Given the description of an element on the screen output the (x, y) to click on. 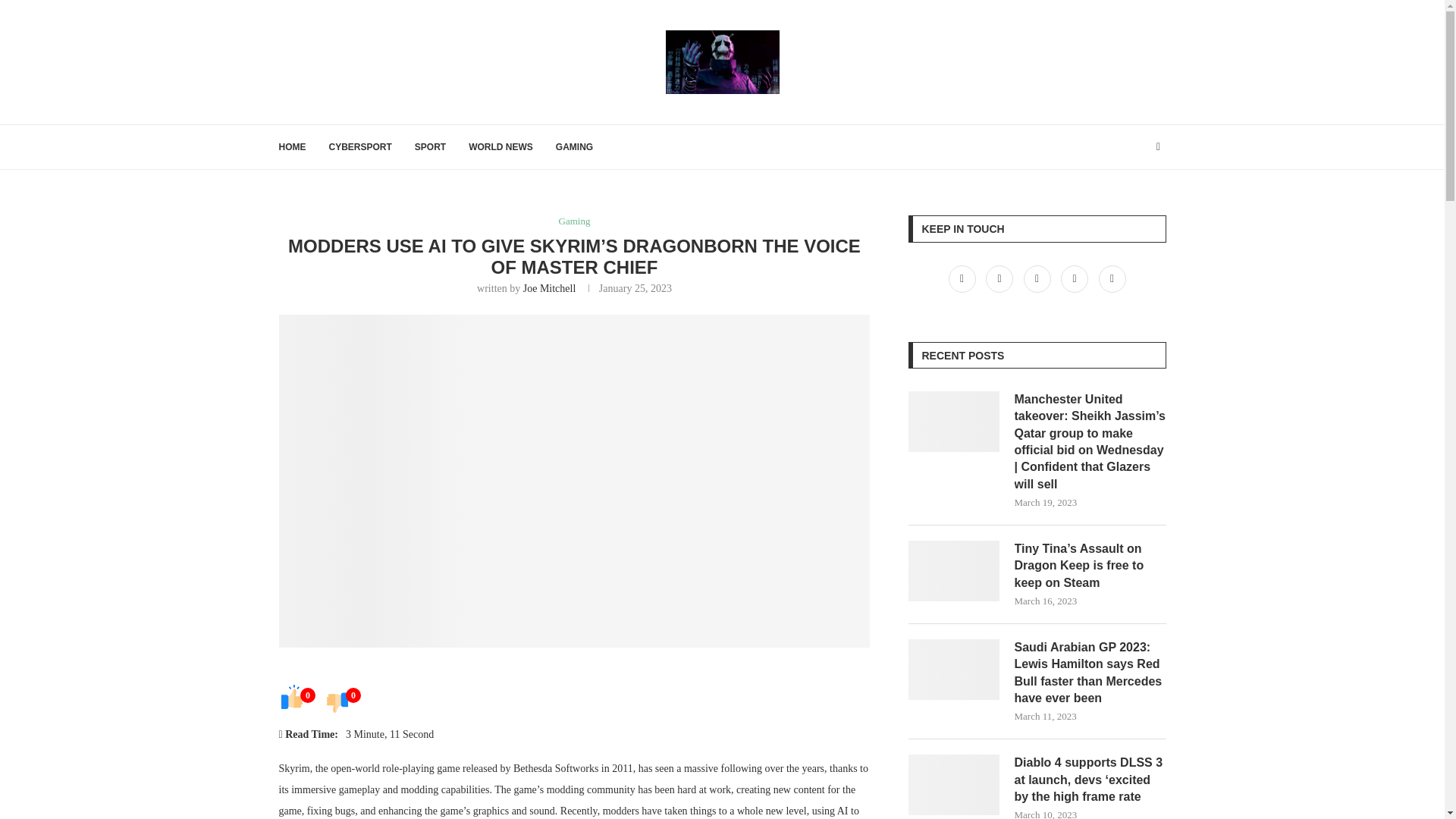
WORLD NEWS (500, 146)
Gaming (575, 221)
Joe Mitchell (549, 288)
CYBERSPORT (360, 146)
